Given the description of an element on the screen output the (x, y) to click on. 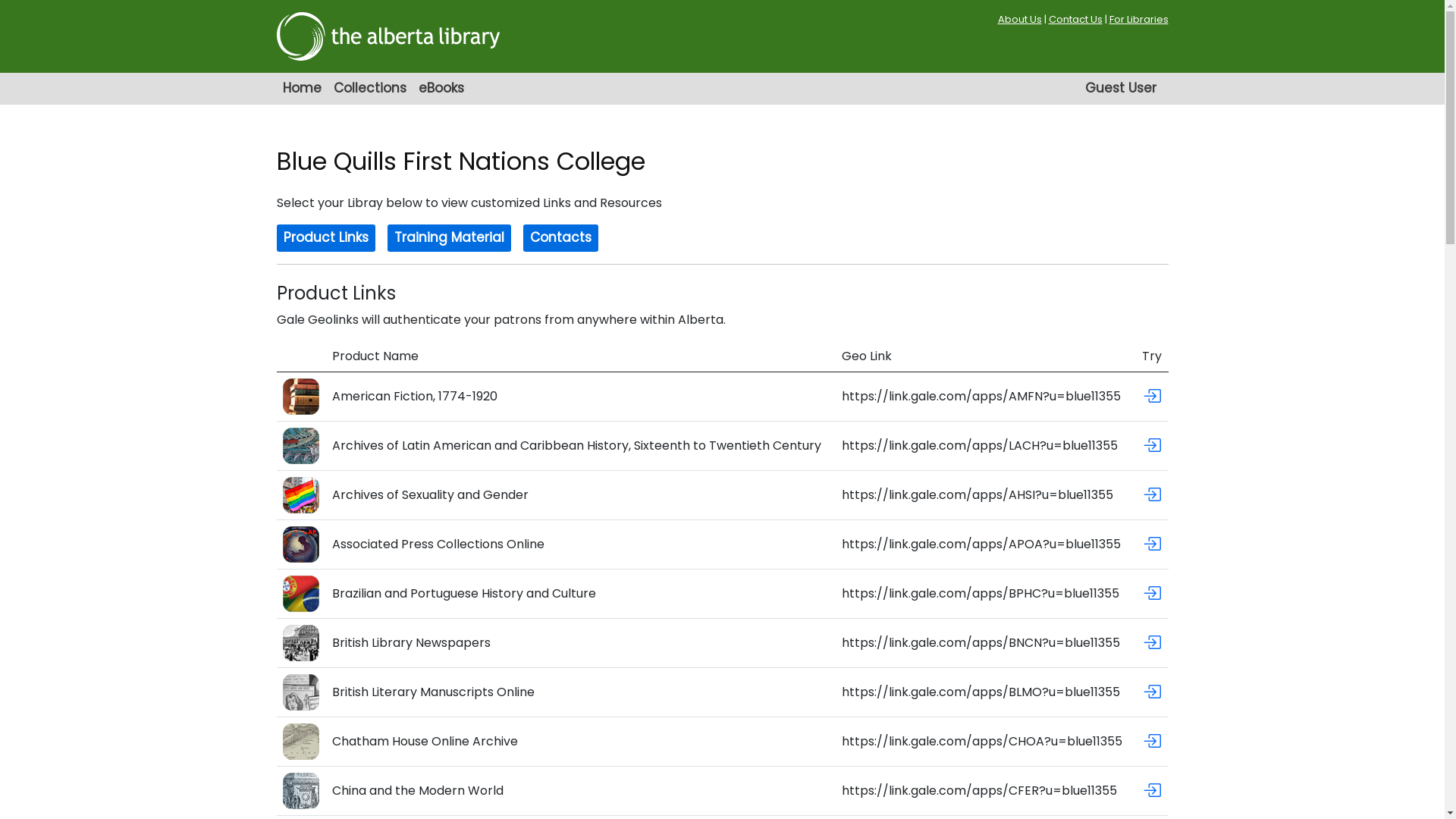
For Libraries Element type: text (1137, 19)
Product Links Element type: text (325, 238)
Contacts Element type: text (560, 238)
Home Element type: text (301, 88)
Guest User Element type: text (1119, 88)
Training Material Element type: text (448, 238)
Collections Element type: text (369, 88)
About Us Element type: text (1019, 19)
Contact Us Element type: text (1074, 19)
eBooks Element type: text (441, 88)
